Given the description of an element on the screen output the (x, y) to click on. 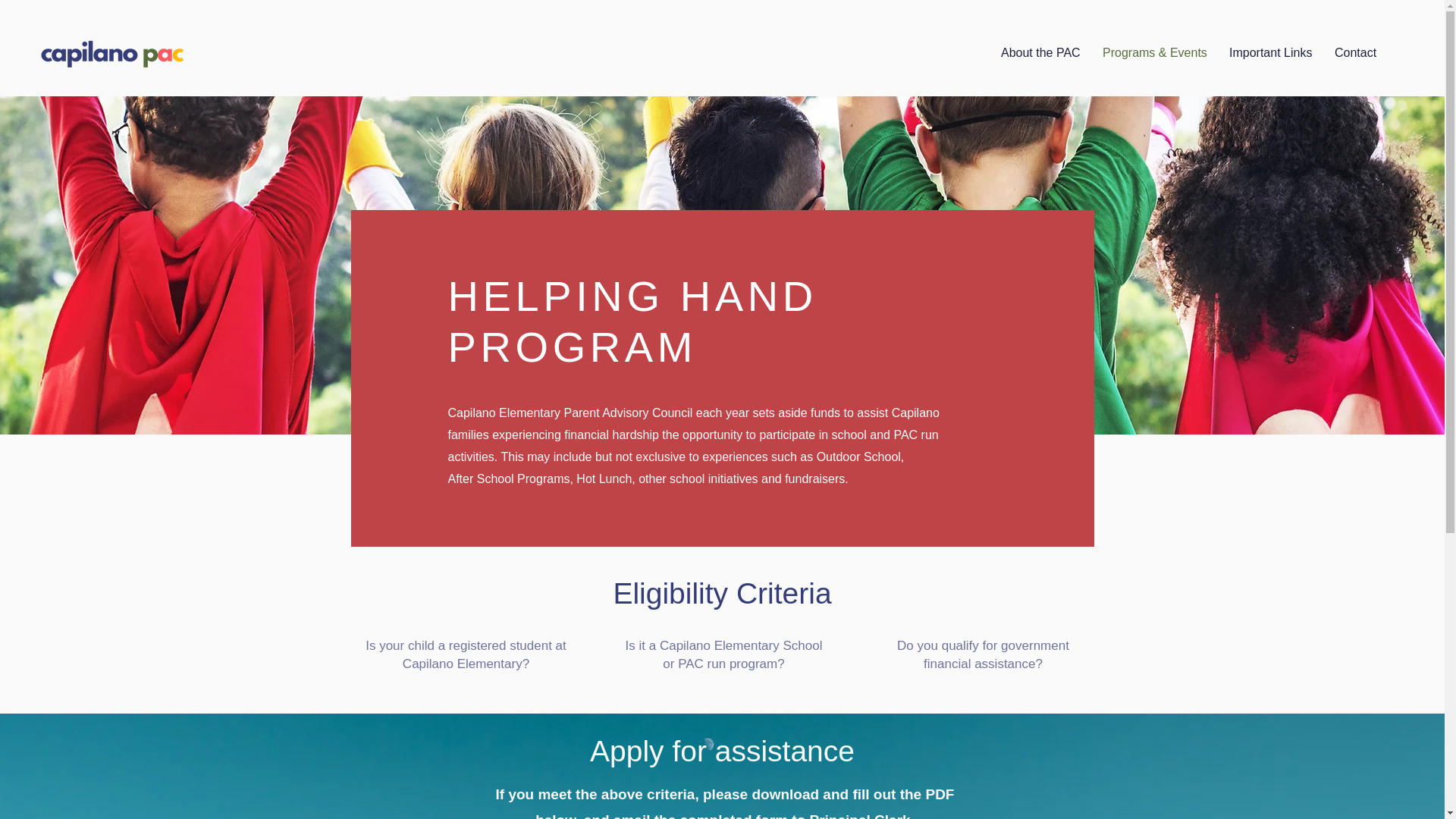
Principal Clark. (861, 815)
Contact (1355, 52)
About the PAC (1040, 52)
Important Links (1270, 52)
